Given the description of an element on the screen output the (x, y) to click on. 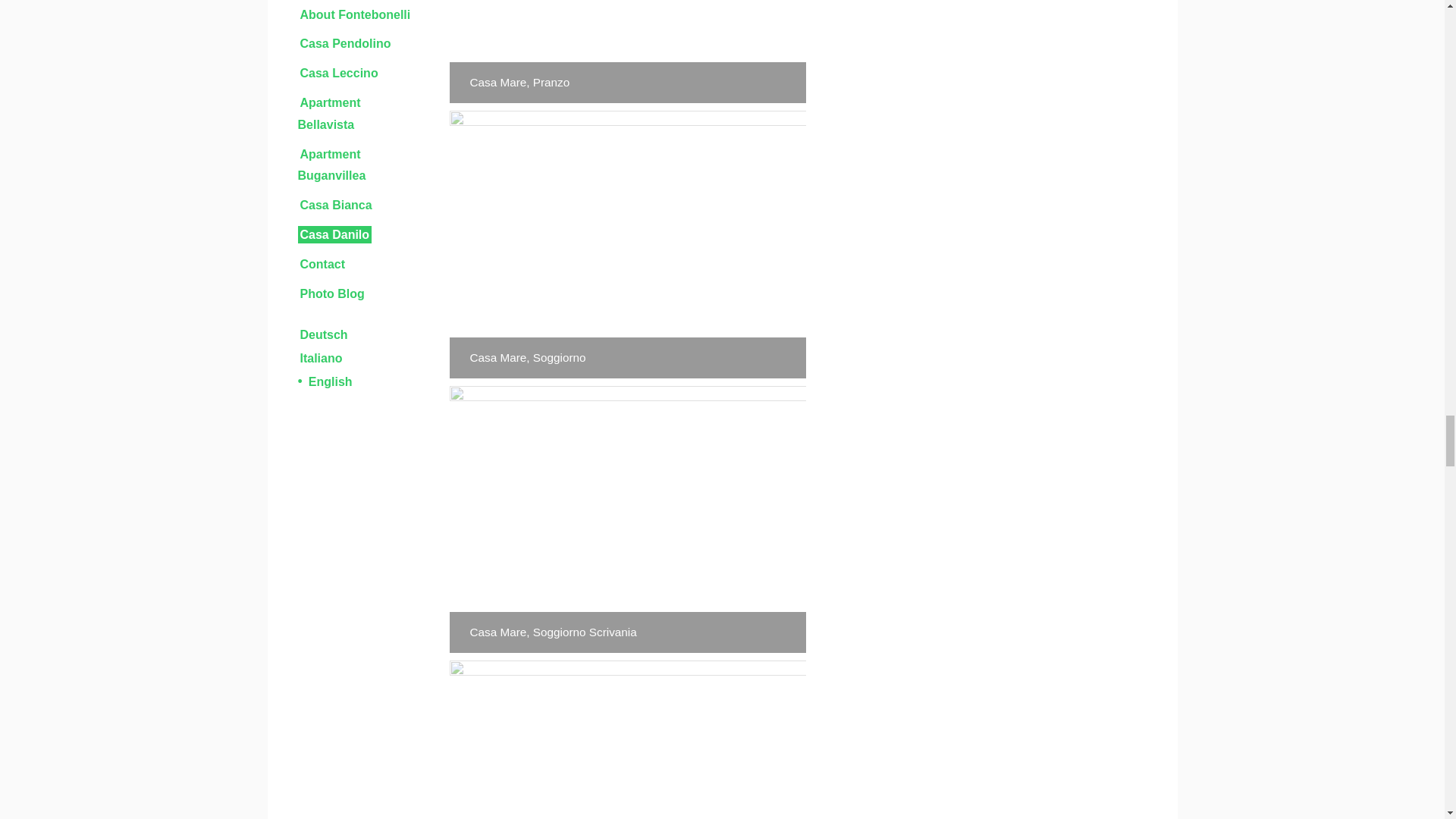
Casa Mare, Soggiorno Scrivania (626, 519)
Casa Mare, Soggiorno Scrivania (626, 739)
Casa Mare, Pranzo (626, 52)
Casa Mare, Soggiorno (626, 244)
